Given the description of an element on the screen output the (x, y) to click on. 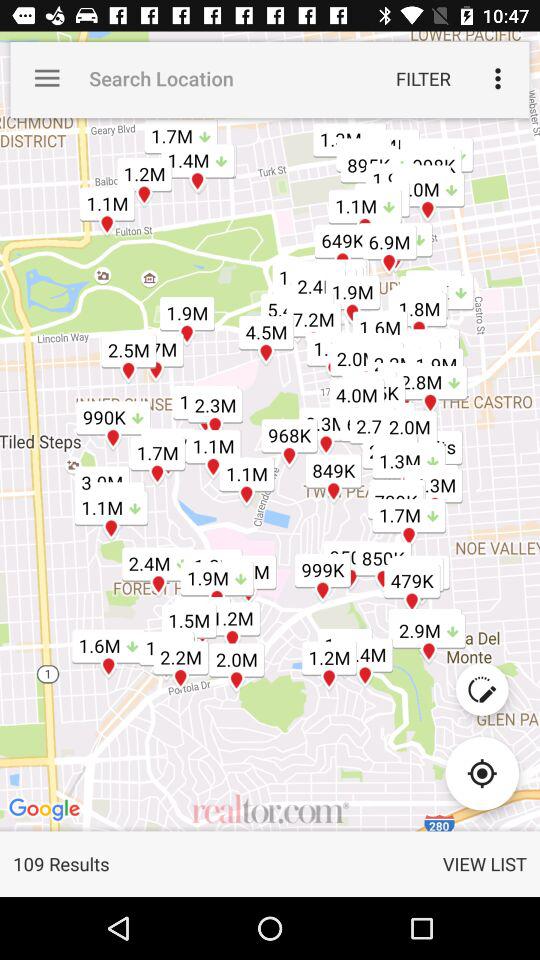
tap icon next to filter (497, 78)
